Given the description of an element on the screen output the (x, y) to click on. 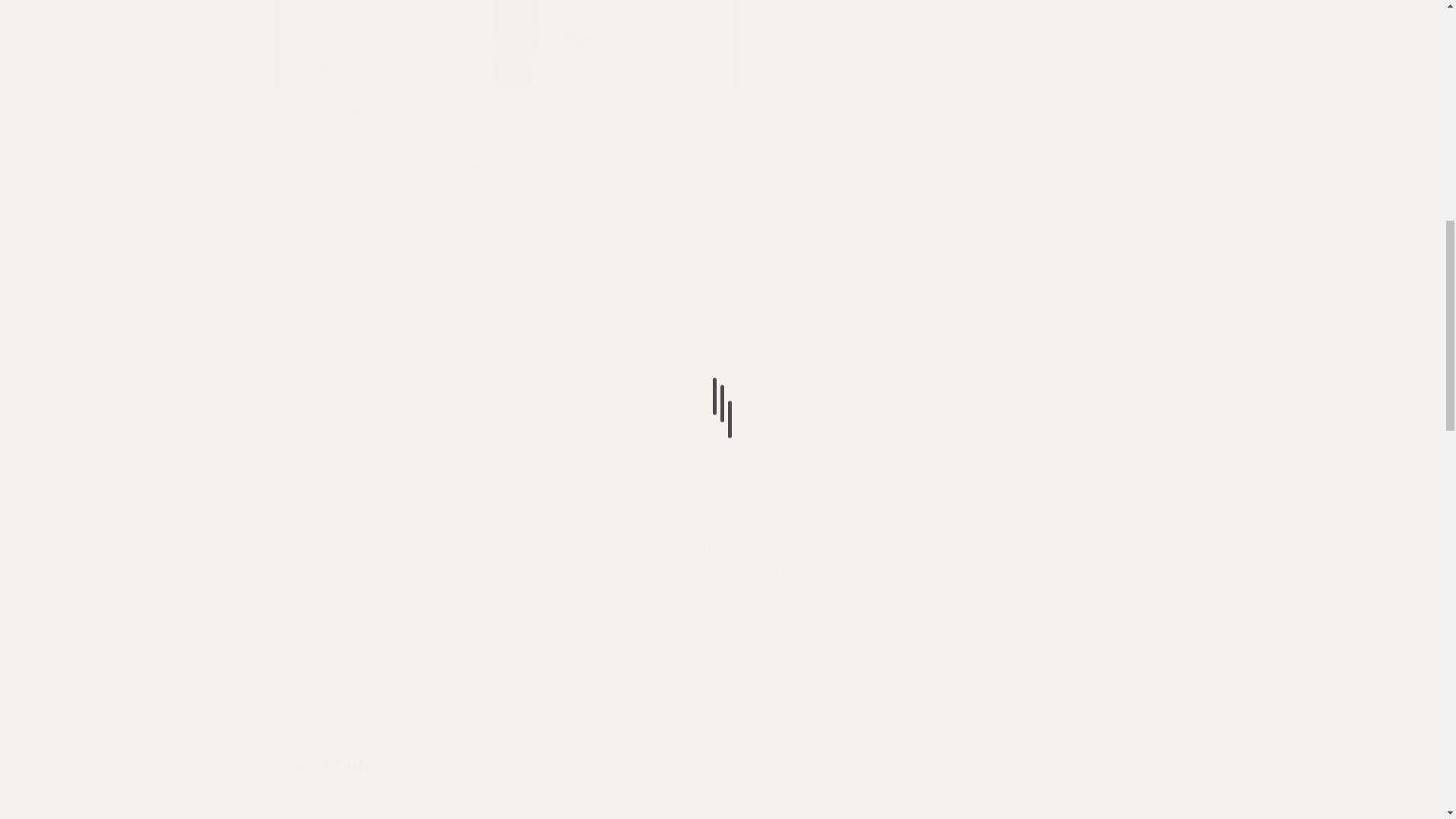
Ross McGibbon (486, 815)
